Given the description of an element on the screen output the (x, y) to click on. 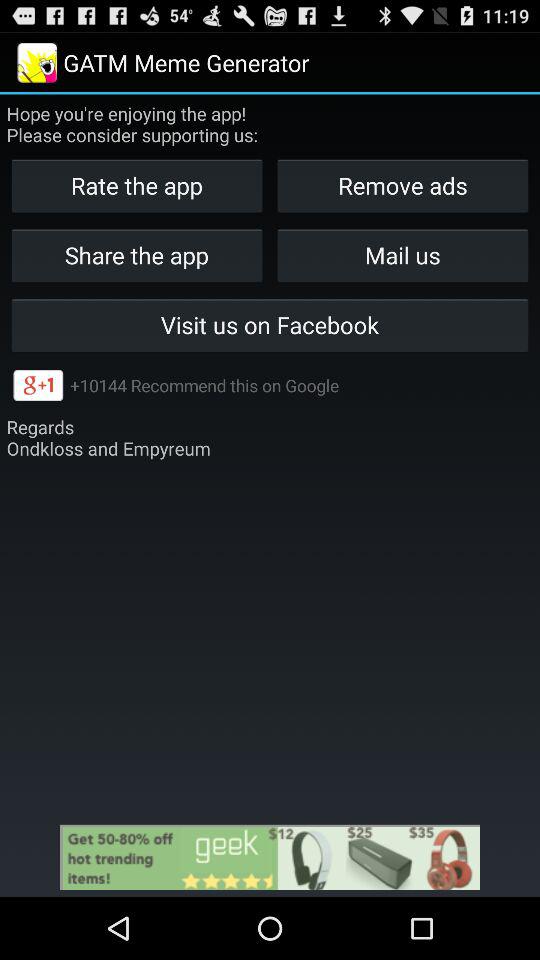
turn off the button next to the rate the app item (402, 185)
